Given the description of an element on the screen output the (x, y) to click on. 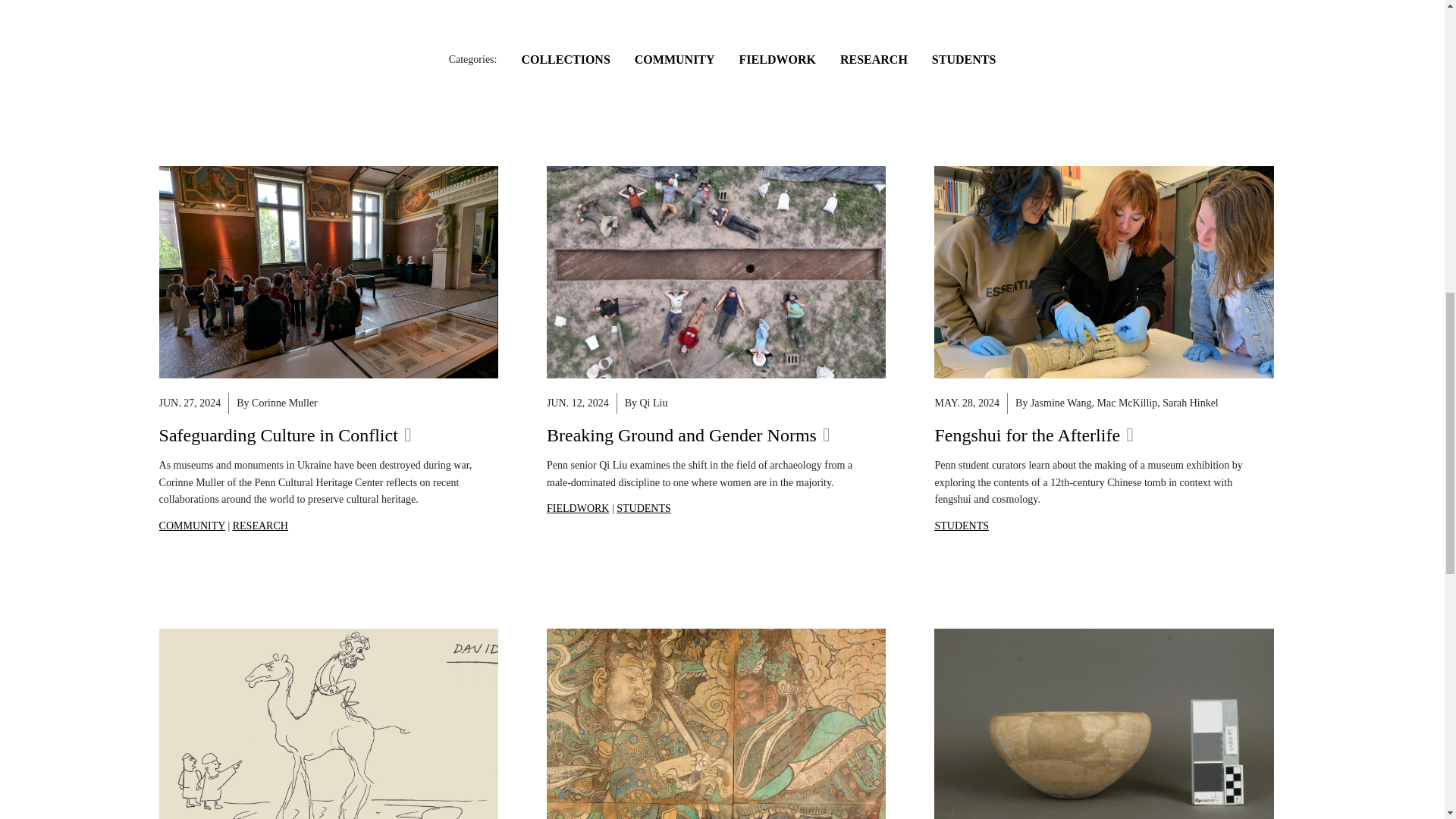
RESEARCH (873, 59)
COLLECTIONS (565, 59)
COMMUNITY (191, 525)
STUDENTS (961, 525)
COMMUNITY (674, 59)
Safeguarding Culture in Conflict (285, 433)
STUDENTS (643, 508)
Fengshui for the Afterlife (1033, 433)
RESEARCH (260, 525)
FIELDWORK (777, 59)
Breaking Ground and Gender Norms (688, 433)
FIELDWORK (577, 508)
STUDENTS (963, 59)
